Given the description of an element on the screen output the (x, y) to click on. 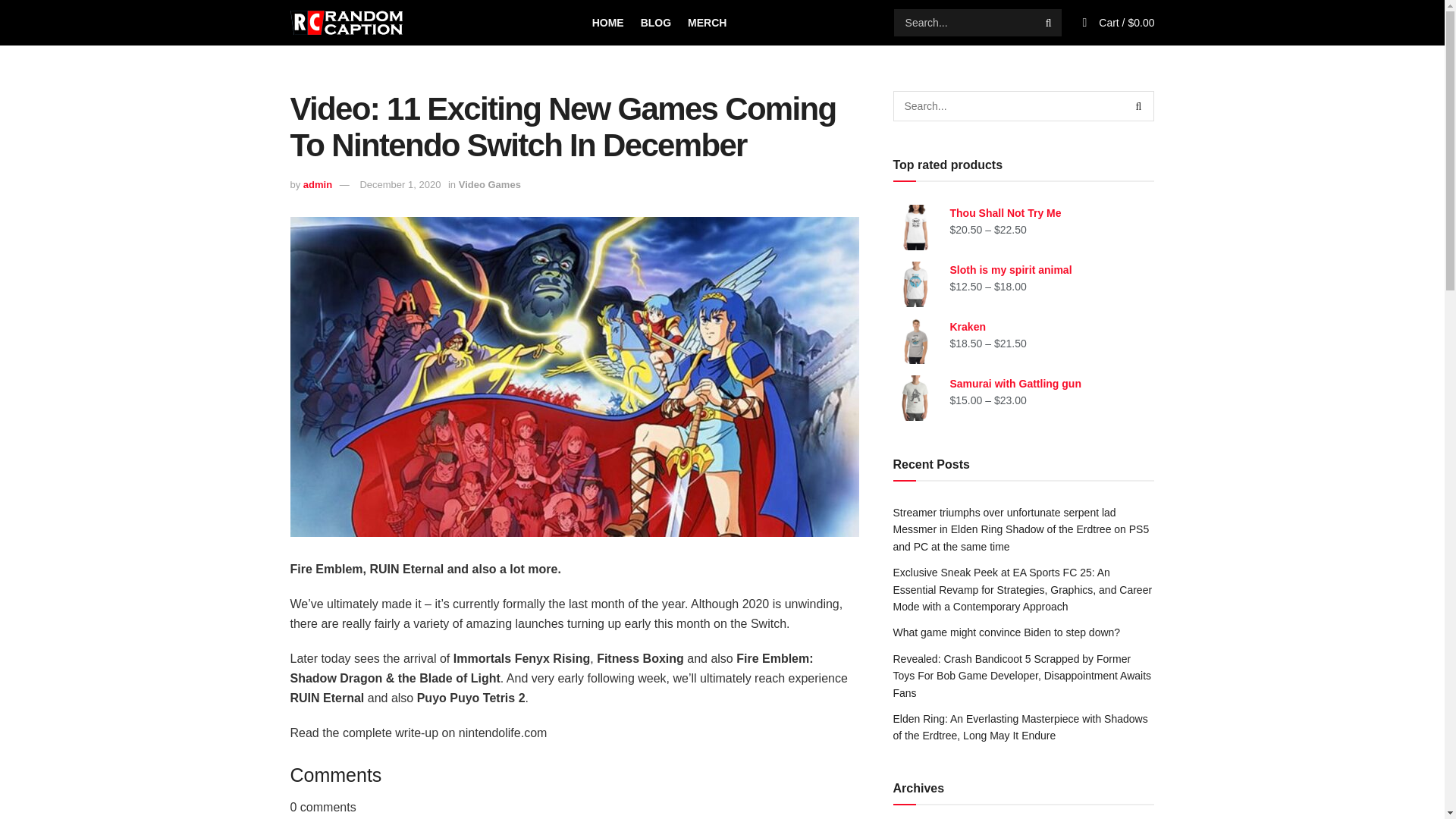
BLOG (655, 22)
HOME (608, 22)
admin (316, 184)
December 1, 2020 (400, 184)
MERCH (706, 22)
View your shopping cart (1126, 22)
Video Games (489, 184)
